Given the description of an element on the screen output the (x, y) to click on. 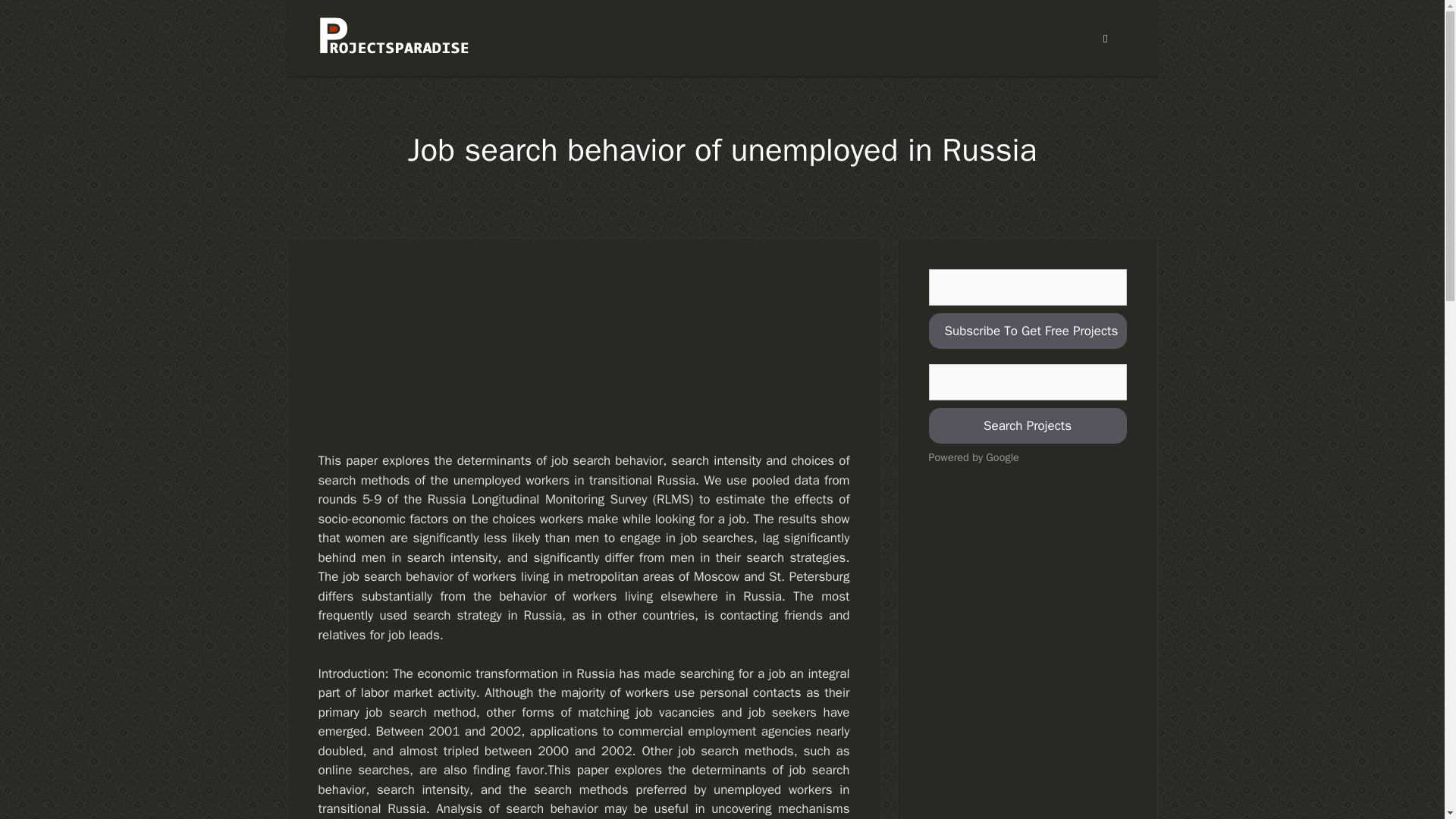
Search Projects (1026, 425)
Search Projects (1026, 425)
Subscribe To Get Free Projects (1026, 330)
Subscribe To Get Free Projects (1026, 330)
